Given the description of an element on the screen output the (x, y) to click on. 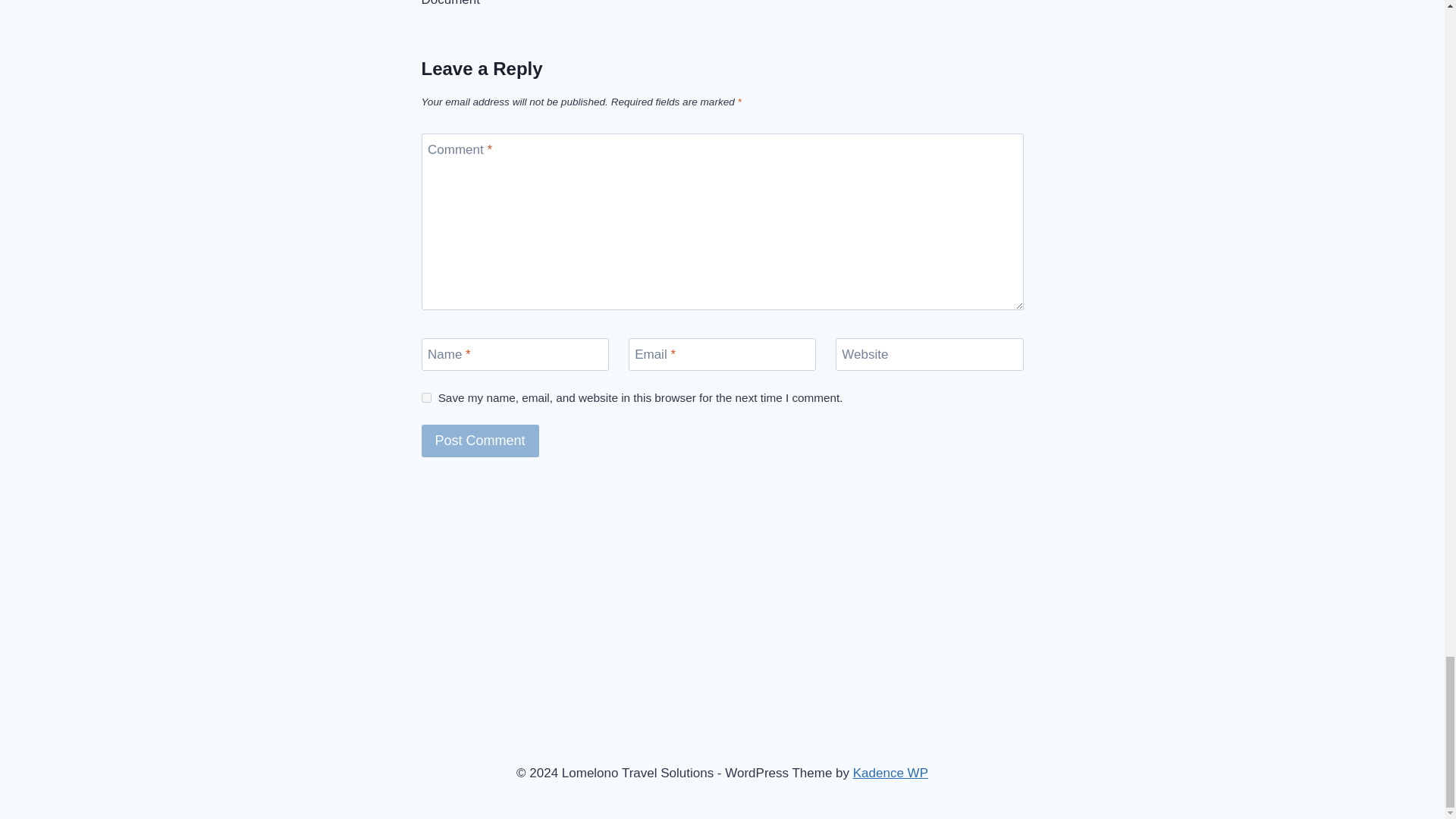
Kadence WP (890, 772)
Post Comment (480, 441)
yes (426, 397)
Post Comment (480, 441)
